Given the description of an element on the screen output the (x, y) to click on. 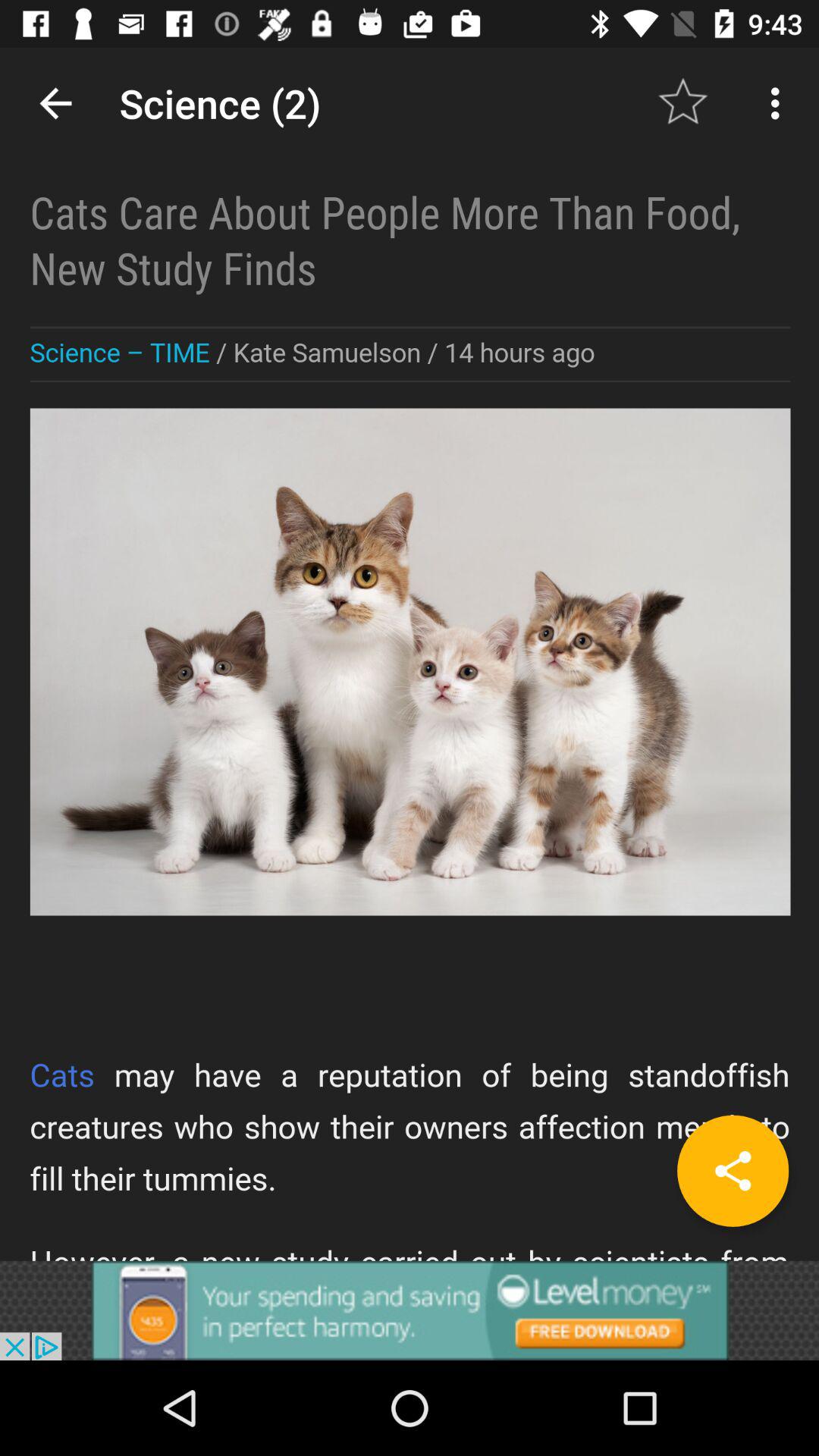
add page (733, 1171)
